Given the description of an element on the screen output the (x, y) to click on. 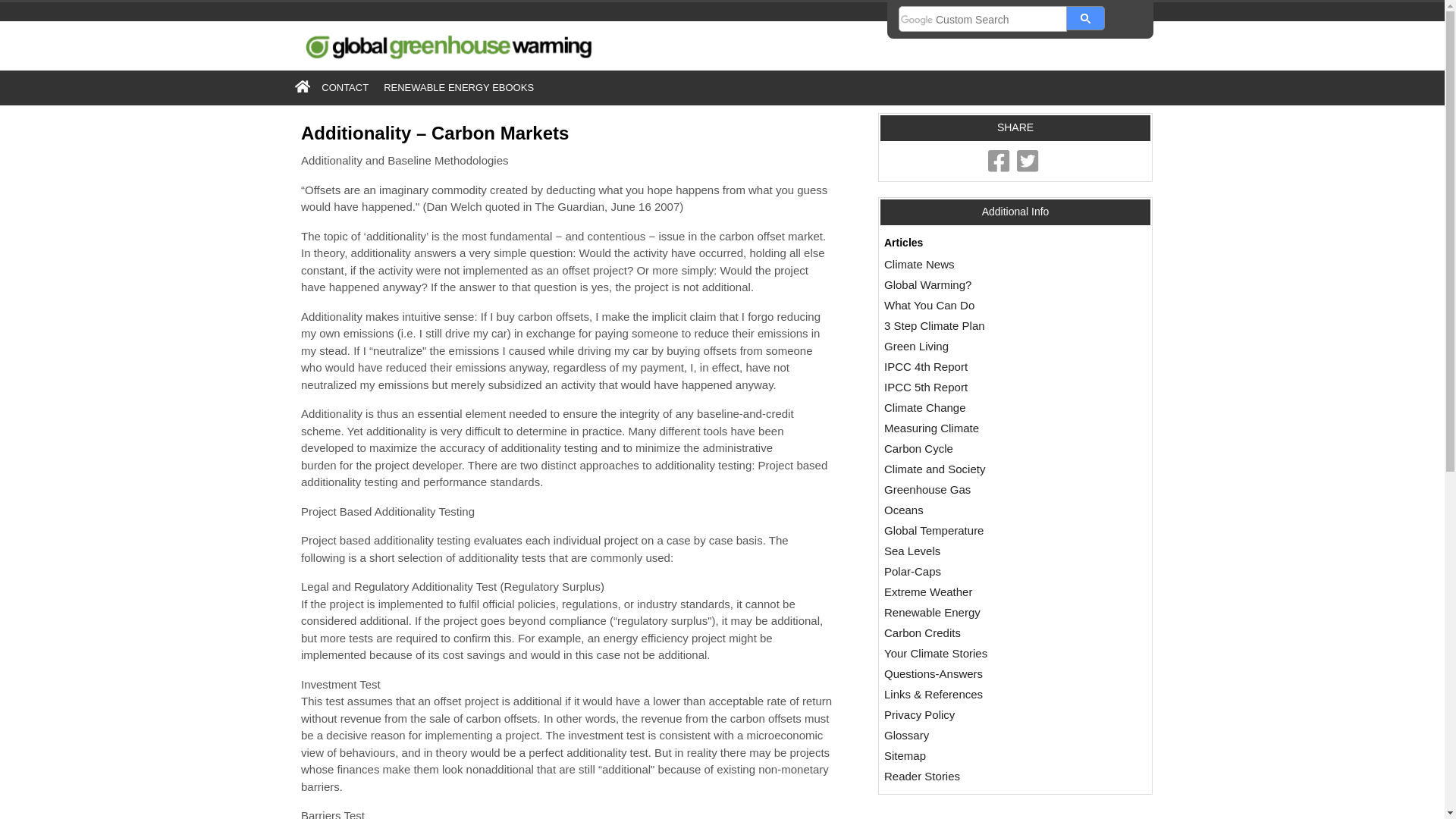
search (1000, 69)
Contact (406, 115)
Carbon Credits (961, 535)
Questions-Answers (972, 574)
Climate and Society (974, 384)
Extreme Weather (967, 498)
Global Warming? (966, 214)
Privacy Policy (958, 612)
Home (358, 115)
Renewable Energy eBooks (510, 115)
Reader Stories (960, 668)
3 Step Climate Plan (974, 251)
IPCC 4th Report (965, 289)
Climate News (958, 195)
search (1087, 66)
